Given the description of an element on the screen output the (x, y) to click on. 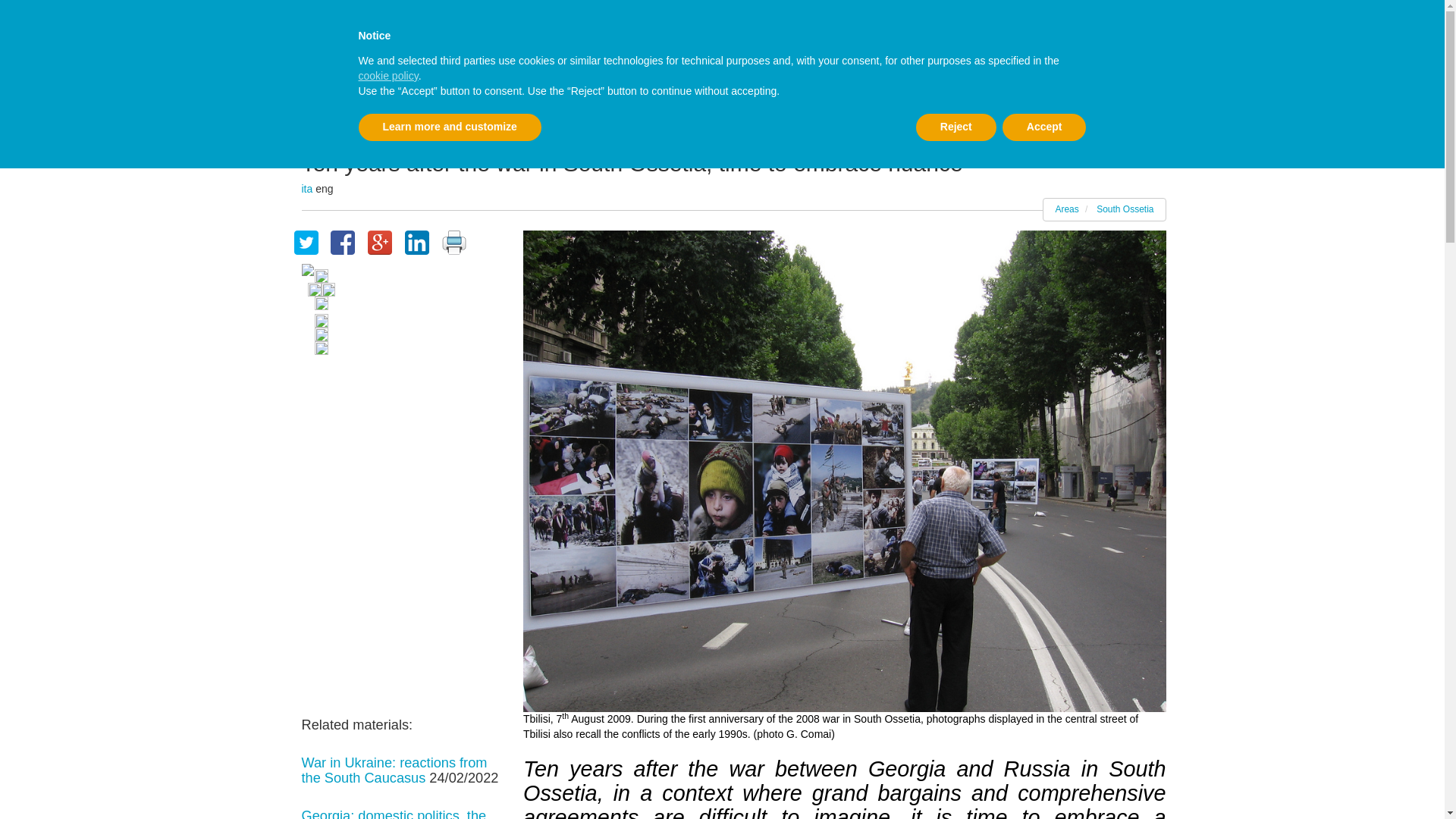
Osservatorio Balcani e Caucaso Transeuropa (408, 66)
SECTIONS (647, 66)
AREAS (571, 66)
